Given the description of an element on the screen output the (x, y) to click on. 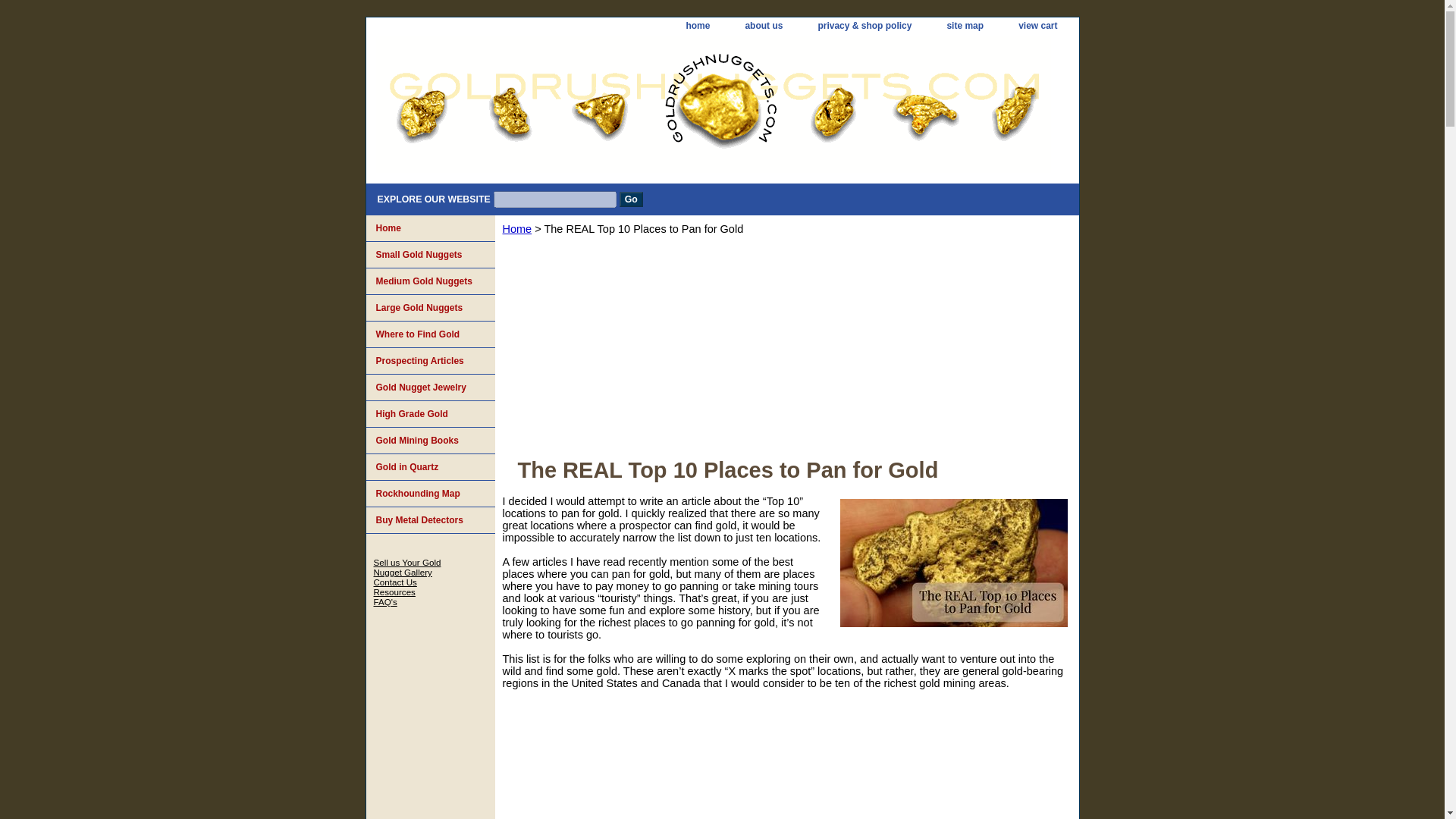
Buy Metal Detectors (430, 519)
Small Gold Nuggets (430, 254)
Prospecting Articles (430, 361)
about us (763, 26)
view cart (1037, 26)
Prospecting Articles (430, 361)
Large Gold Nuggets (430, 307)
Home (430, 228)
Gold Mining Books (430, 440)
Go (631, 199)
